Given the description of an element on the screen output the (x, y) to click on. 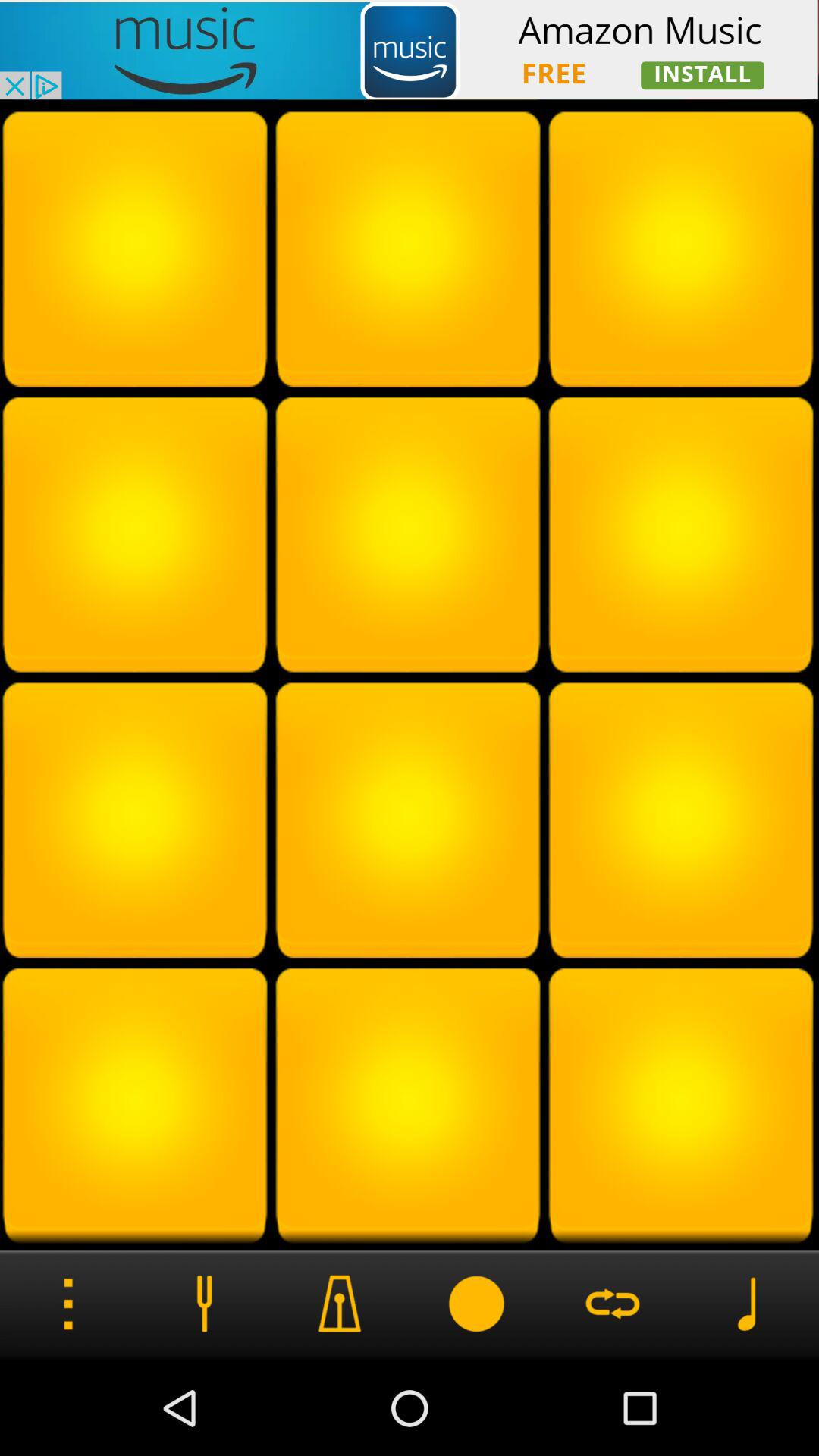
advertisement (409, 49)
